Given the description of an element on the screen output the (x, y) to click on. 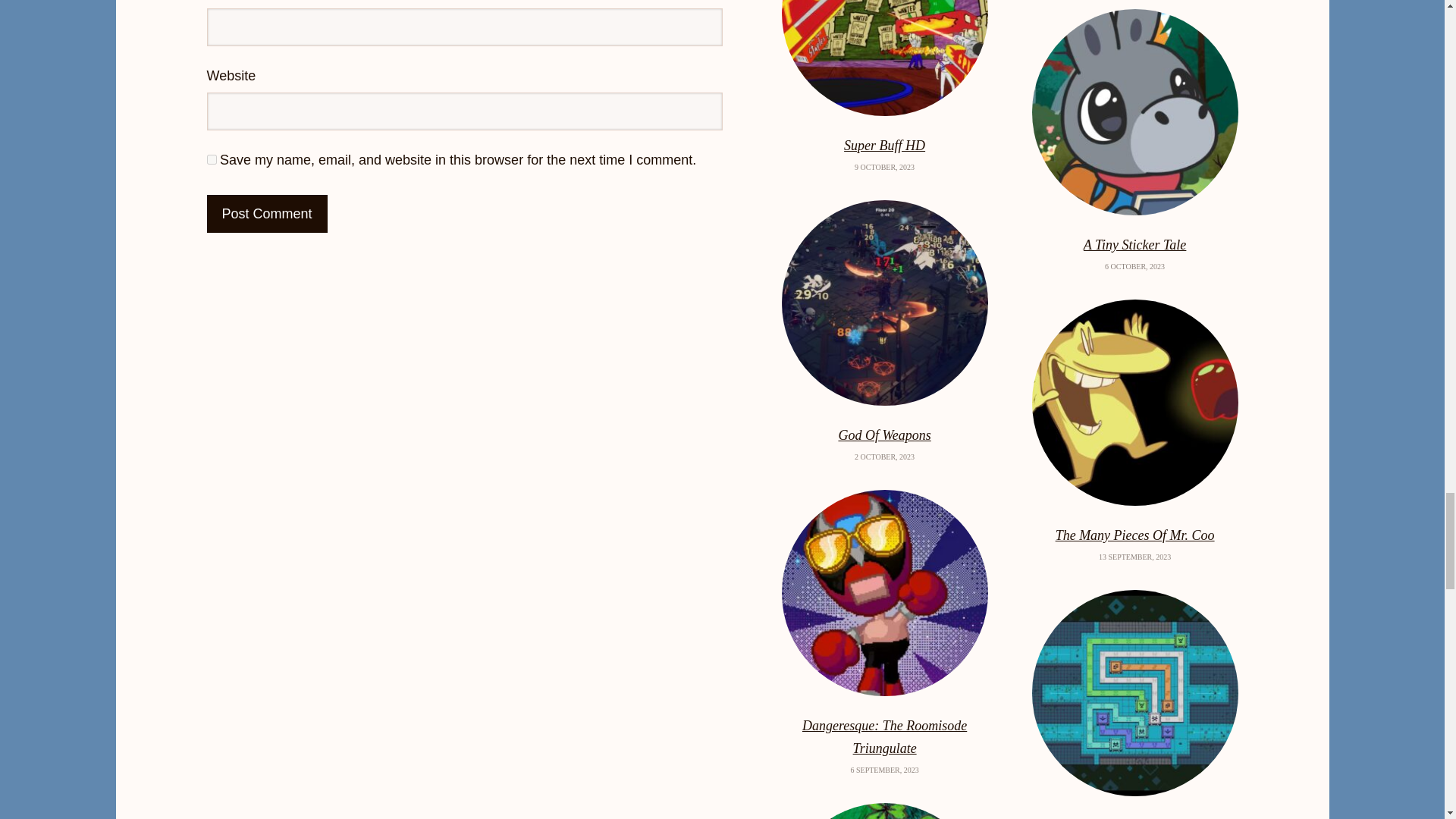
Post Comment (266, 213)
Post Comment (266, 213)
yes (210, 159)
